Given the description of an element on the screen output the (x, y) to click on. 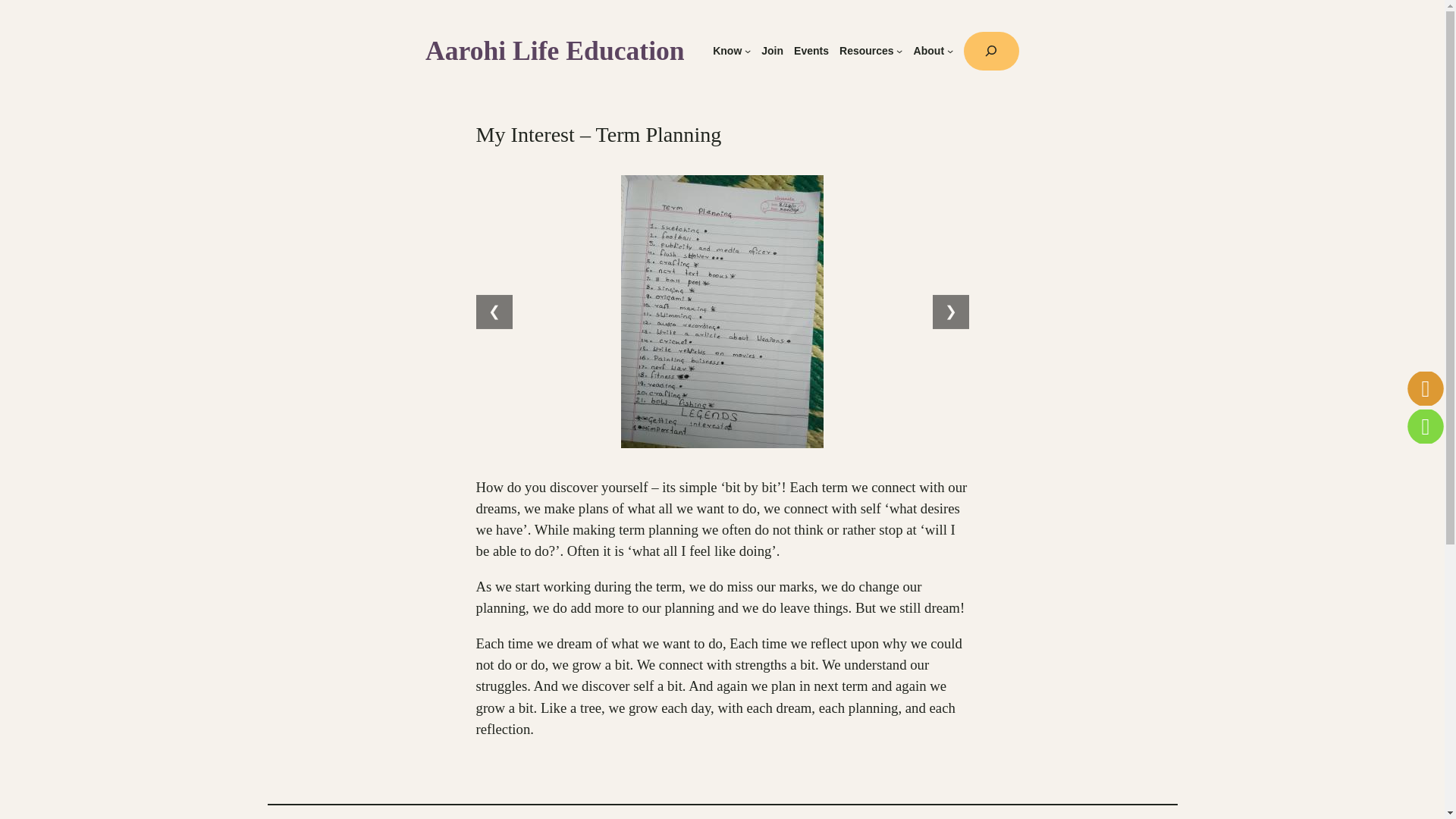
About (928, 50)
Join (772, 50)
Resources (866, 50)
Events (810, 50)
Know (727, 50)
Aarohi Life Education (554, 51)
